Given the description of an element on the screen output the (x, y) to click on. 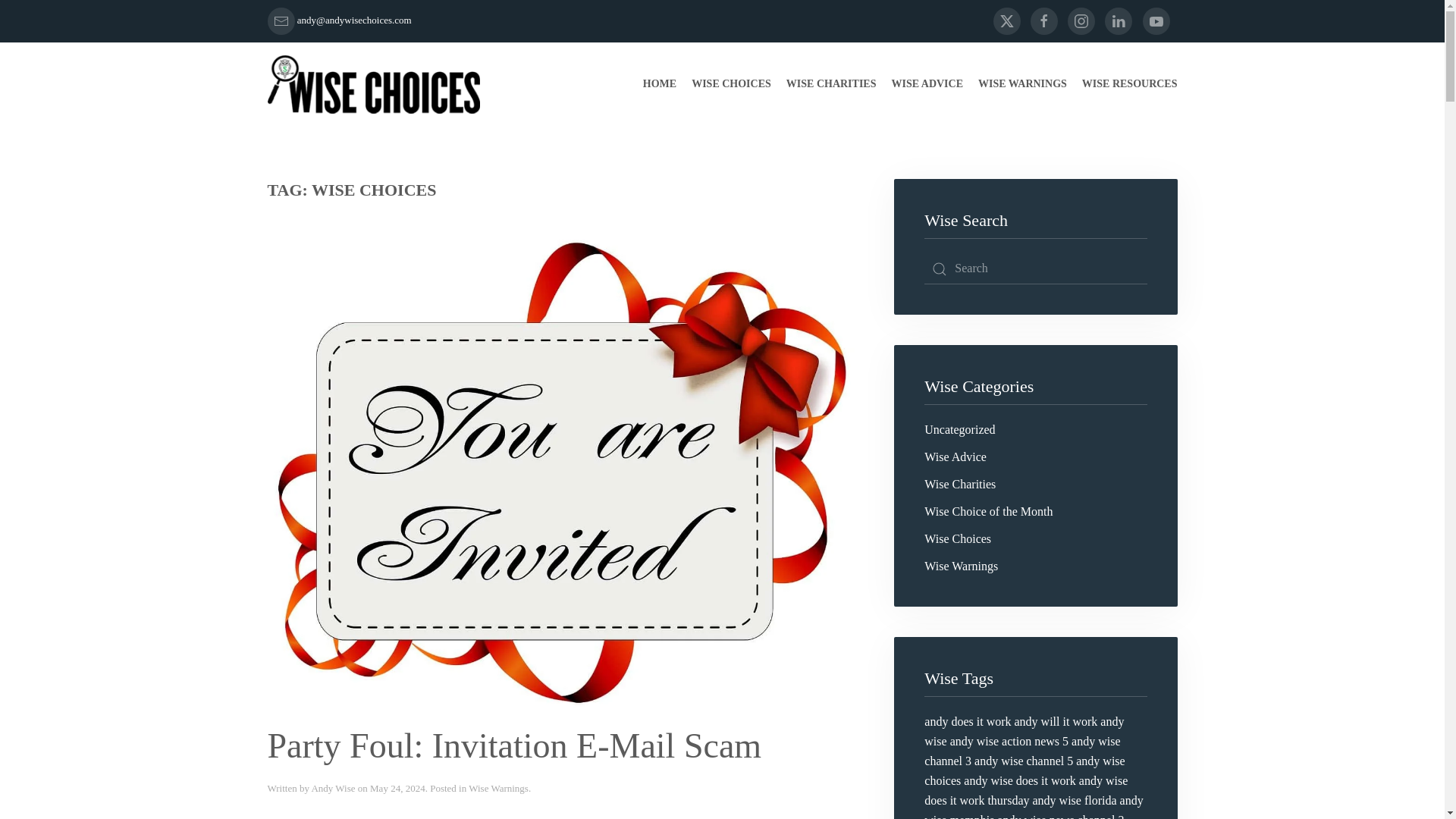
WISE CHOICES (731, 84)
WISE CHARITIES (831, 84)
Party Foul: Invitation E-Mail Scam (513, 745)
Wise Warnings (498, 787)
WISE WARNINGS (1022, 84)
Andy Wise (333, 787)
WISE RESOURCES (1129, 84)
